Given the description of an element on the screen output the (x, y) to click on. 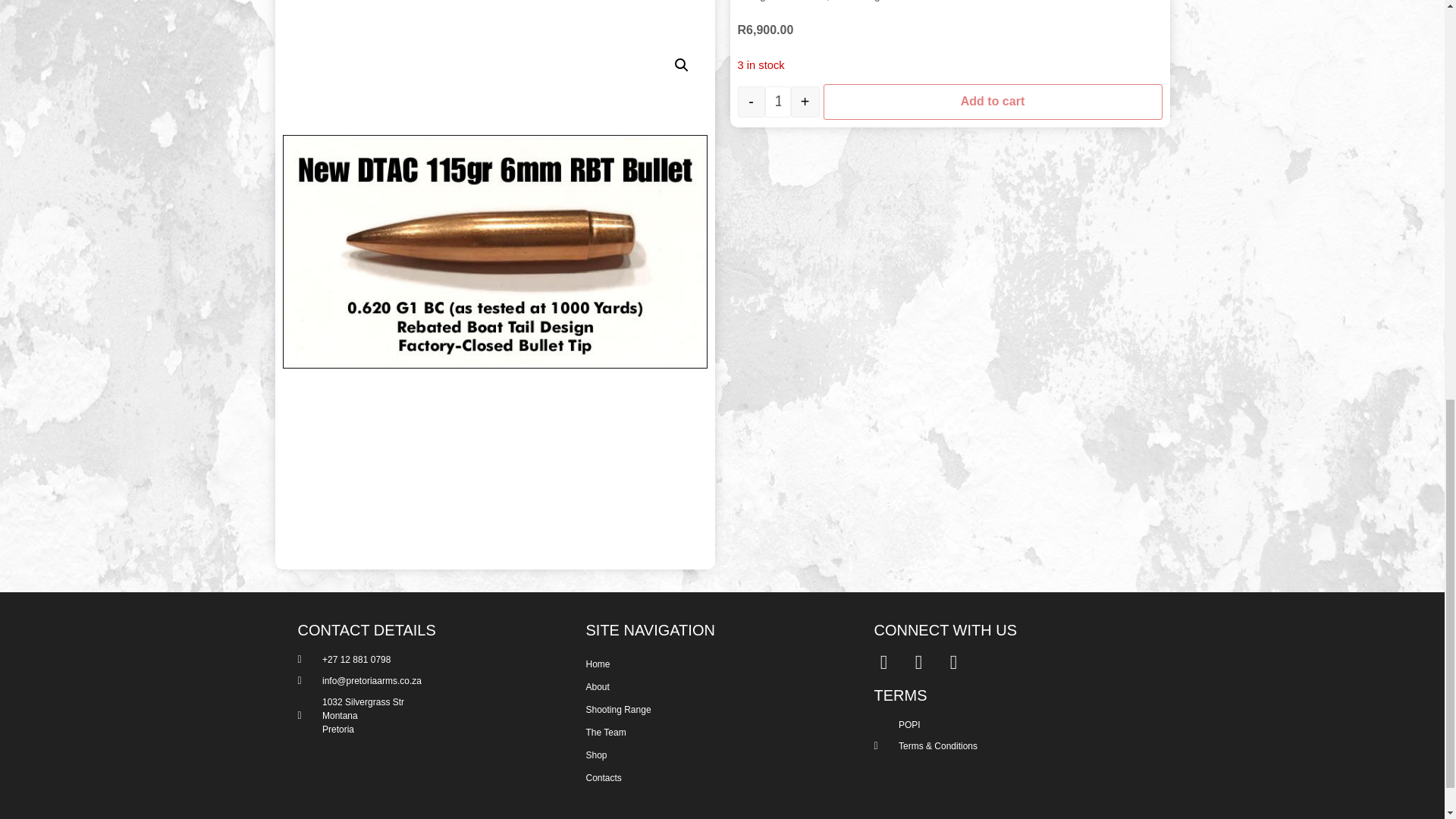
Shop (714, 754)
Add to cart (992, 109)
Shooting Range (714, 709)
Home (714, 663)
Bullets (810, 14)
About (714, 686)
Reloading (856, 9)
The Team (714, 732)
